Given the description of an element on the screen output the (x, y) to click on. 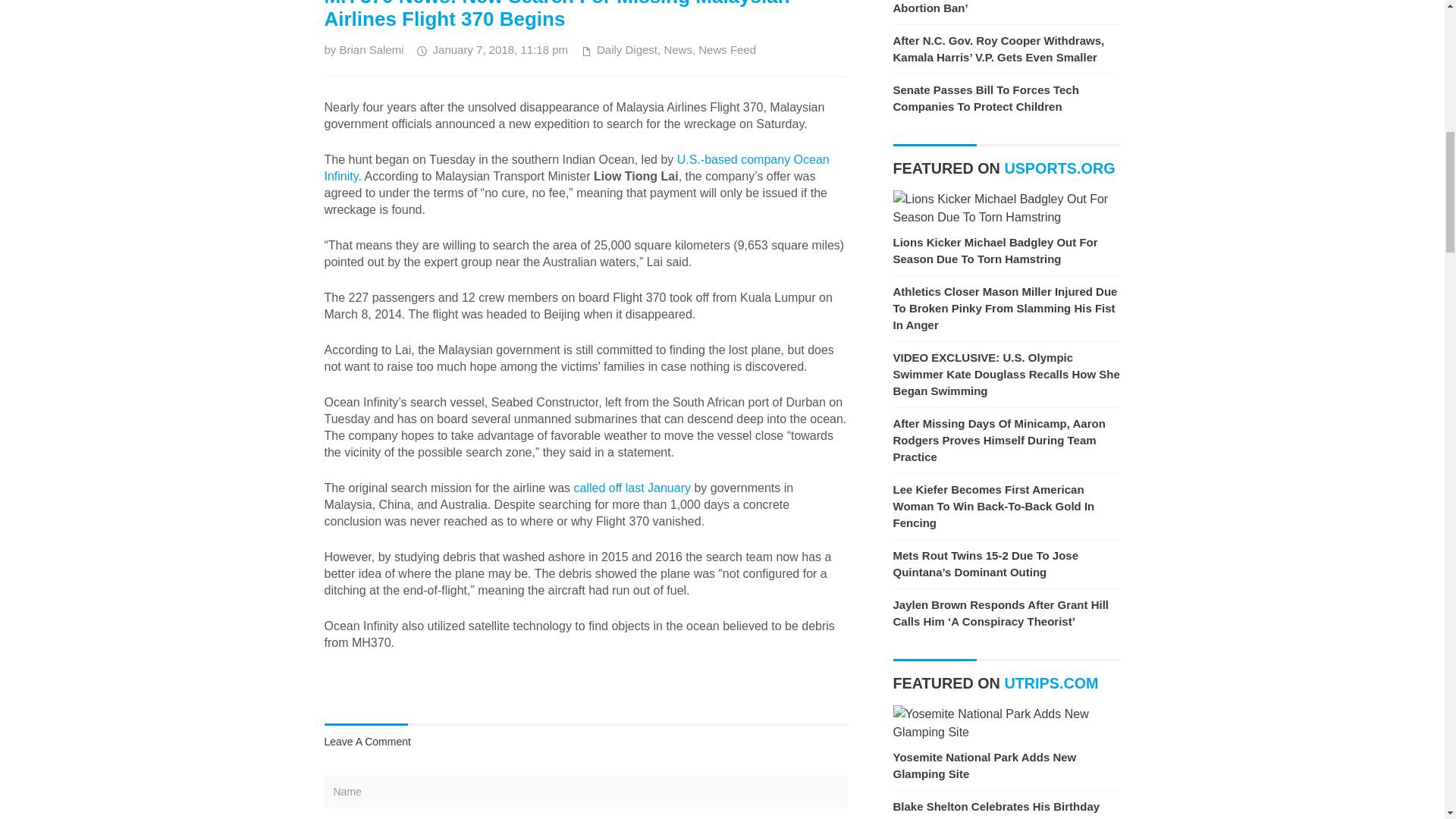
News Feed (726, 49)
called off last January (631, 487)
Daily Digest (627, 49)
News (678, 49)
U.S.-based company Ocean Infinity (576, 167)
